Given the description of an element on the screen output the (x, y) to click on. 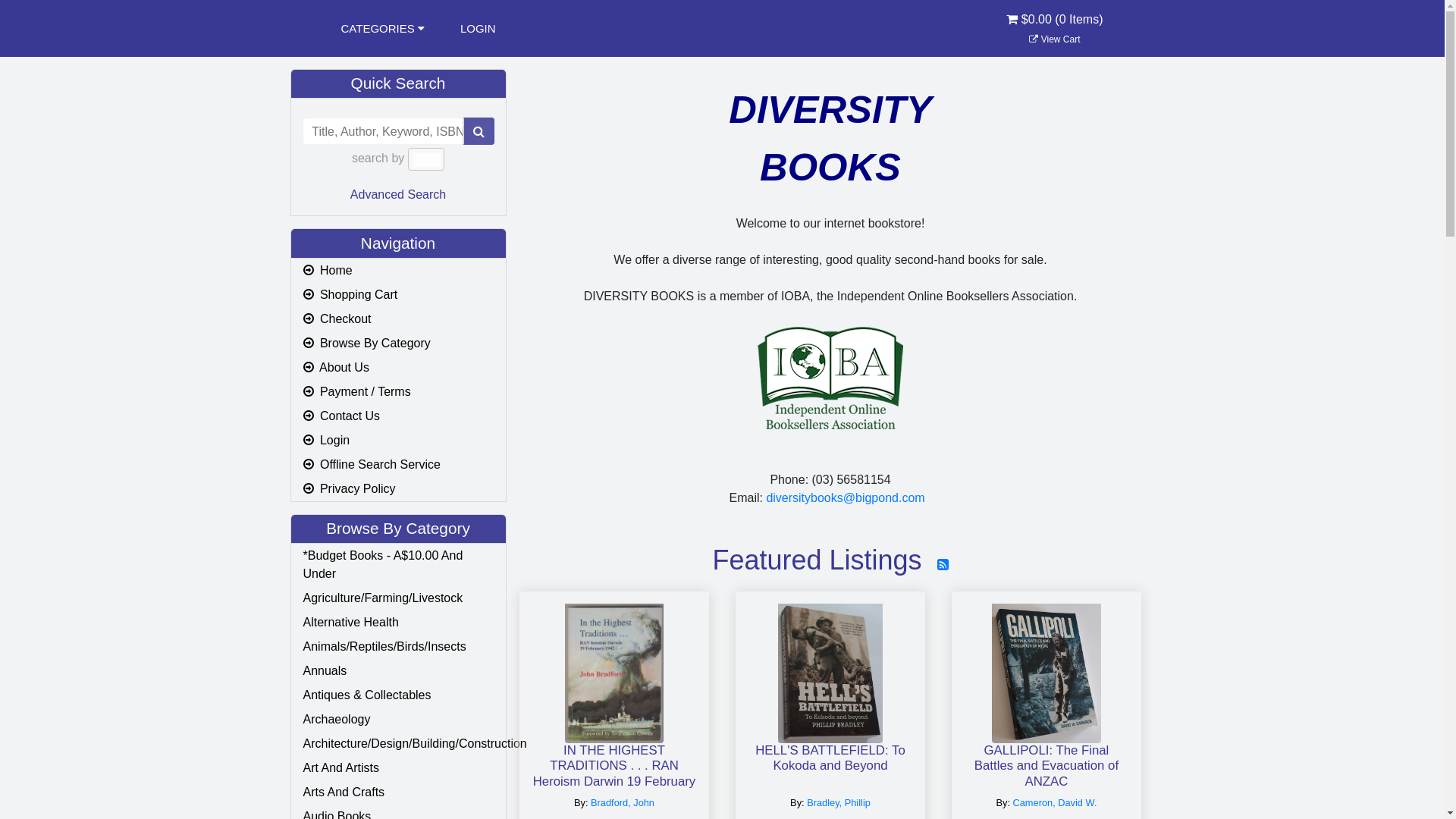
*Budget Books - A$10.00 And Under Element type: text (398, 564)
Agriculture/Farming/Livestock Element type: text (398, 598)
 Checkout Element type: text (398, 319)
Art And Artists Element type: text (398, 768)
 Browse By Category Element type: text (398, 343)
 Payment / Terms Element type: text (398, 391)
RSS Feed Element type: hover (942, 564)
 Login Element type: text (398, 440)
Antiques & Collectables Element type: text (398, 695)
Archaeology Element type: text (398, 719)
CATEGORIES  Element type: text (382, 28)
LOGIN Element type: text (478, 28)
Bradford, John Element type: text (622, 802)
HELL'S BATTLEFIELD: To Kokoda and Beyond Element type: text (830, 765)
Advanced Search Element type: text (397, 194)
 Offline Search Service Element type: text (398, 464)
Bradley, Phillip Element type: text (838, 802)
 About Us Element type: text (398, 367)
Architecture/Design/Building/Construction Element type: text (398, 743)
 Shopping Cart Element type: text (398, 294)
diversitybooks@bigpond.com Element type: text (844, 497)
 Home Element type: text (398, 270)
 Privacy Policy Element type: text (398, 488)
 View Cart Element type: text (1054, 39)
Cameron, David W. Element type: text (1055, 802)
 Contact Us Element type: text (398, 416)
Animals/Reptiles/Birds/Insects Element type: text (398, 646)
$0.00 (0 Items) Element type: text (1054, 28)
GALLIPOLI: The Final Battles and Evacuation of ANZAC Element type: hover (1045, 667)
All  Element type: text (425, 158)
Arts And Crafts Element type: text (398, 792)
GALLIPOLI: The Final Battles and Evacuation of ANZAC Element type: text (1046, 765)
Annuals Element type: text (398, 670)
HELL'S BATTLEFIELD: To Kokoda and Beyond Element type: hover (830, 667)
Alternative Health Element type: text (398, 622)
